Given the description of an element on the screen output the (x, y) to click on. 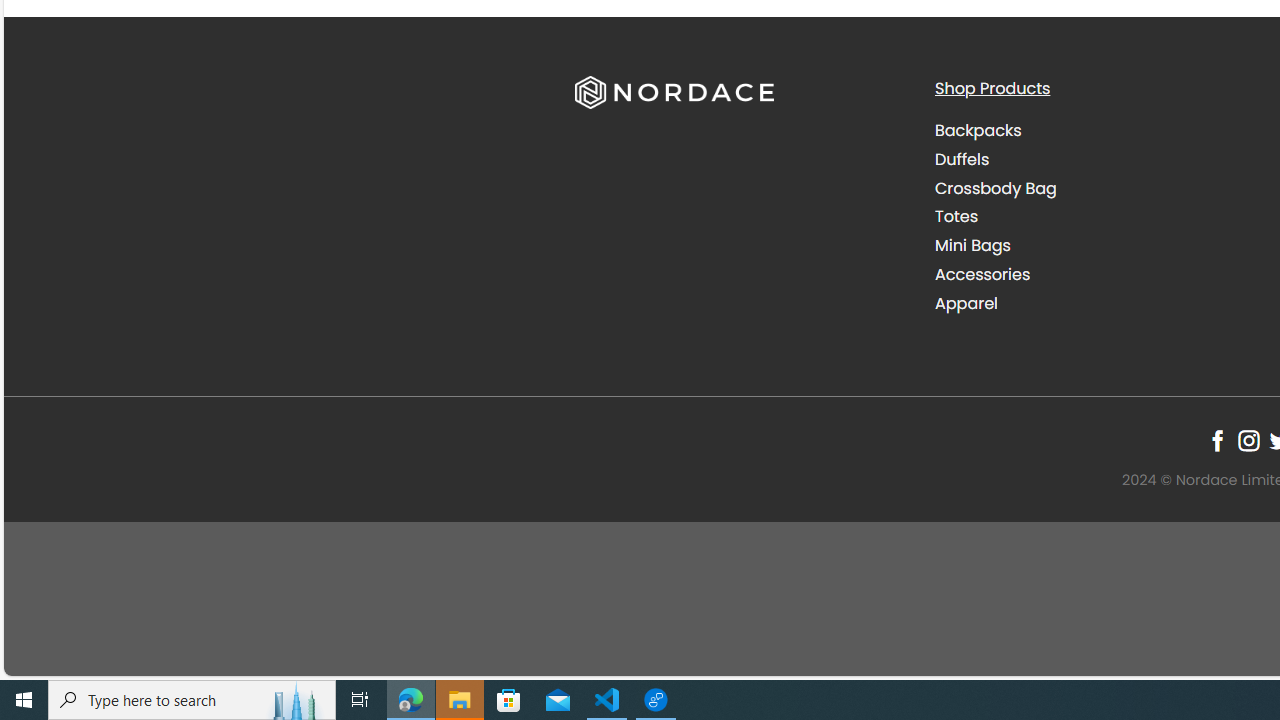
Crossbody Bag (995, 187)
Accessories (982, 273)
Duffels (1099, 159)
Totes (1099, 216)
Crossbody Bag (1099, 188)
Accessories (1099, 274)
Mini Bags (1099, 246)
Backpacks (977, 130)
Apparel (1099, 303)
Totes (955, 216)
Duffels (961, 158)
Apparel (966, 302)
Backpacks (1099, 131)
